Given the description of an element on the screen output the (x, y) to click on. 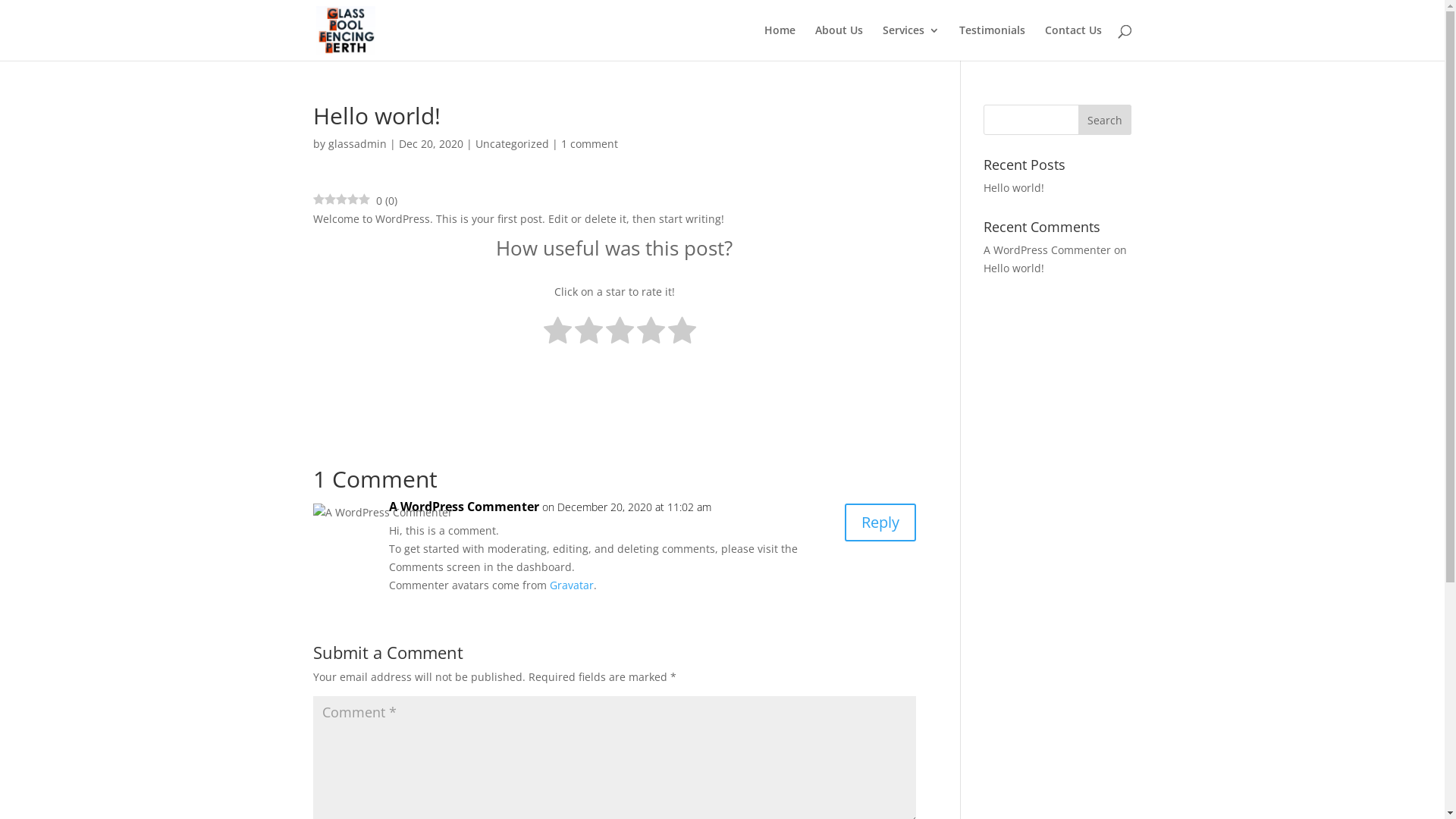
Uncategorized Element type: text (511, 143)
Contact Us Element type: text (1072, 42)
A WordPress Commenter Element type: text (463, 507)
1 comment Element type: text (589, 143)
Gravatar Element type: text (571, 584)
Hello world! Element type: text (1013, 267)
Services Element type: text (910, 42)
About Us Element type: text (838, 42)
Hello world! Element type: text (1013, 187)
Home Element type: text (779, 42)
A WordPress Commenter Element type: text (1046, 249)
Testimonials Element type: text (991, 42)
Reply Element type: text (880, 522)
Search Element type: text (1104, 119)
glassadmin Element type: text (356, 143)
